Given the description of an element on the screen output the (x, y) to click on. 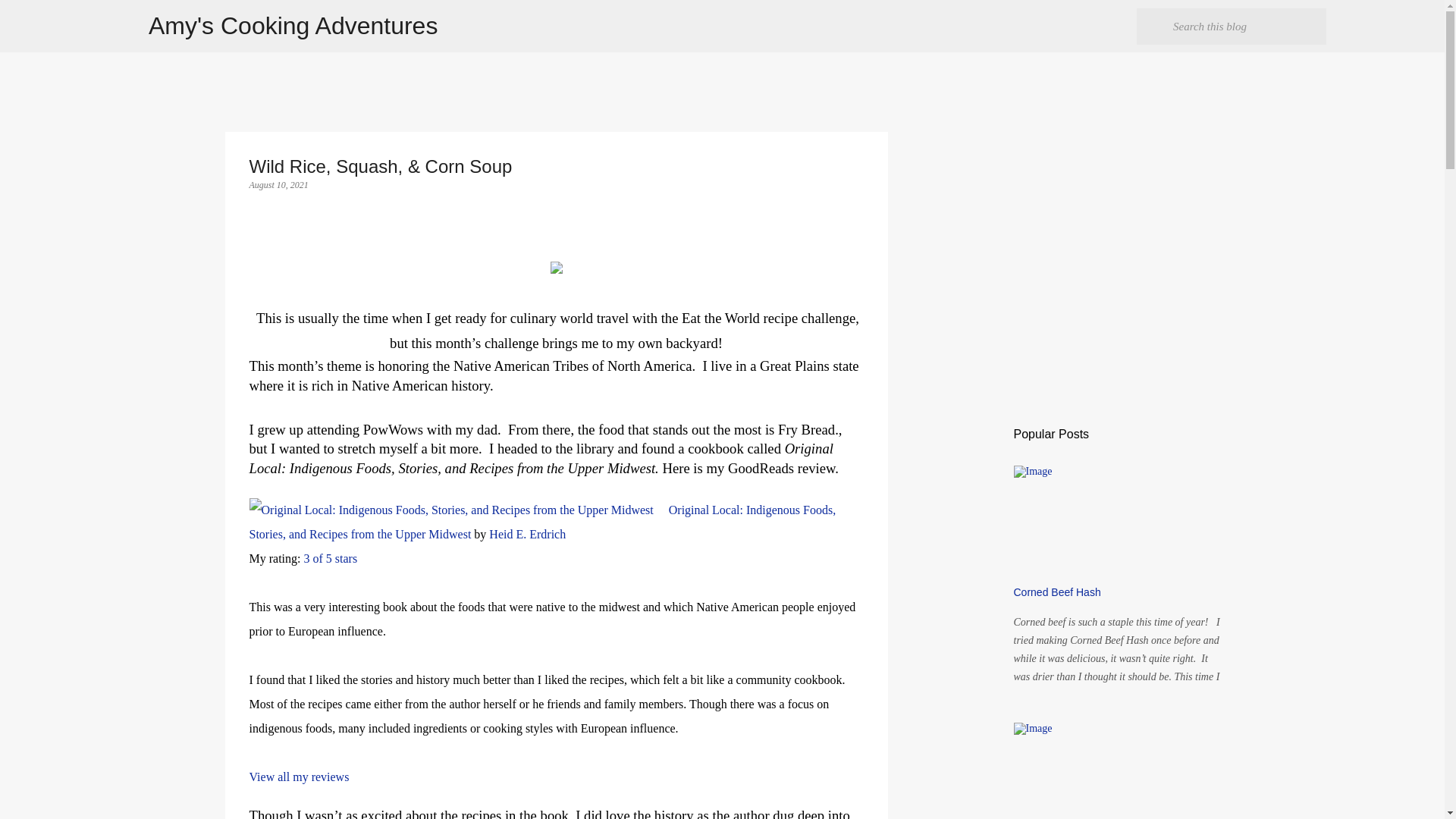
August 10, 2021 (277, 184)
View all my reviews (298, 776)
Amy's Cooking Adventures (293, 25)
3 of 5 stars (329, 558)
permanent link (277, 184)
Heid E. Erdrich (527, 533)
